Given the description of an element on the screen output the (x, y) to click on. 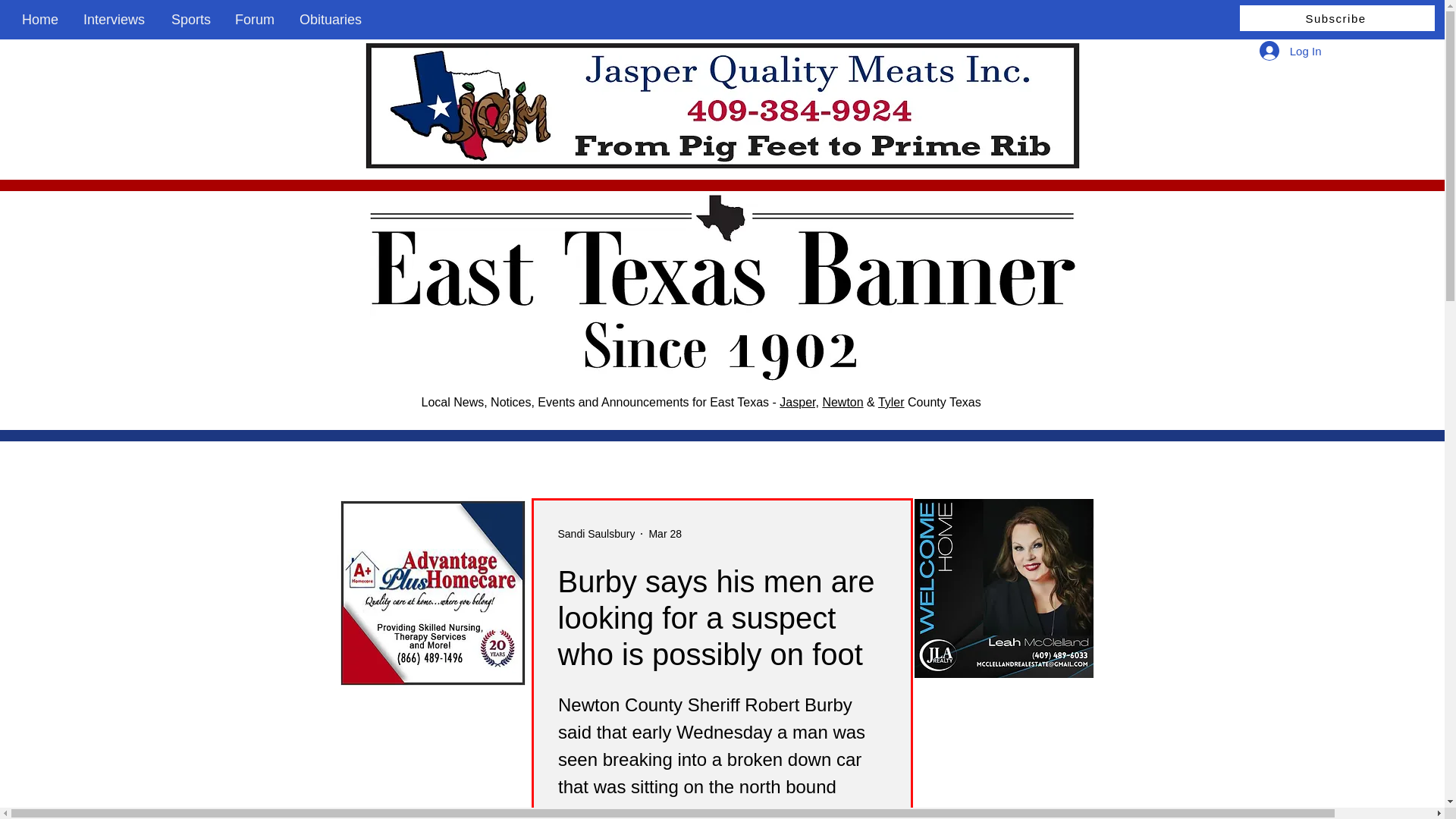
Newton (842, 401)
Interviews (115, 19)
Jasper, (798, 401)
Tyler (890, 401)
Log In (1290, 50)
Subscribe (1337, 17)
Forum (256, 19)
Sandi Saulsbury (595, 534)
Obituaries (332, 19)
Home (40, 19)
